Given the description of an element on the screen output the (x, y) to click on. 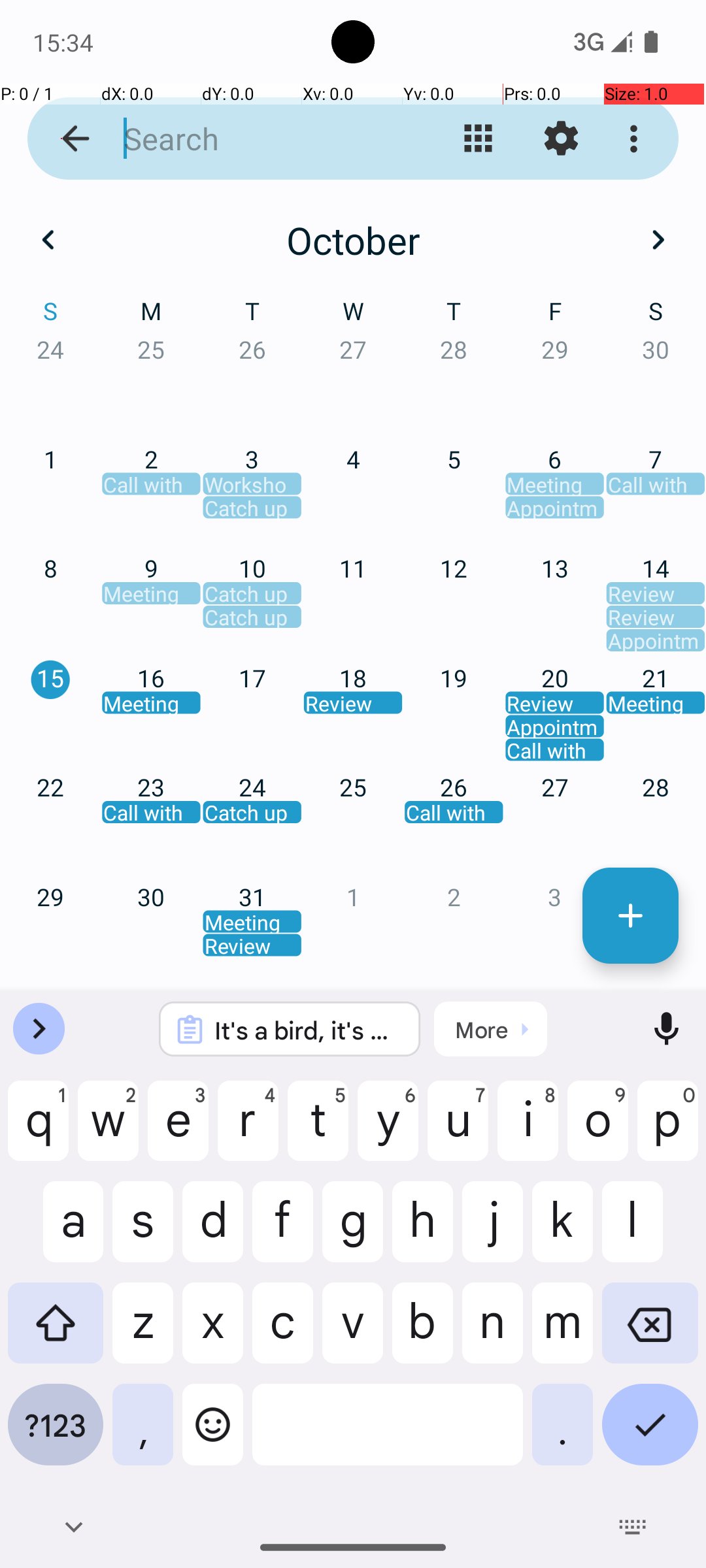
It's a bird, it's a plane. Element type: android.widget.TextView (306, 1029)
